Given the description of an element on the screen output the (x, y) to click on. 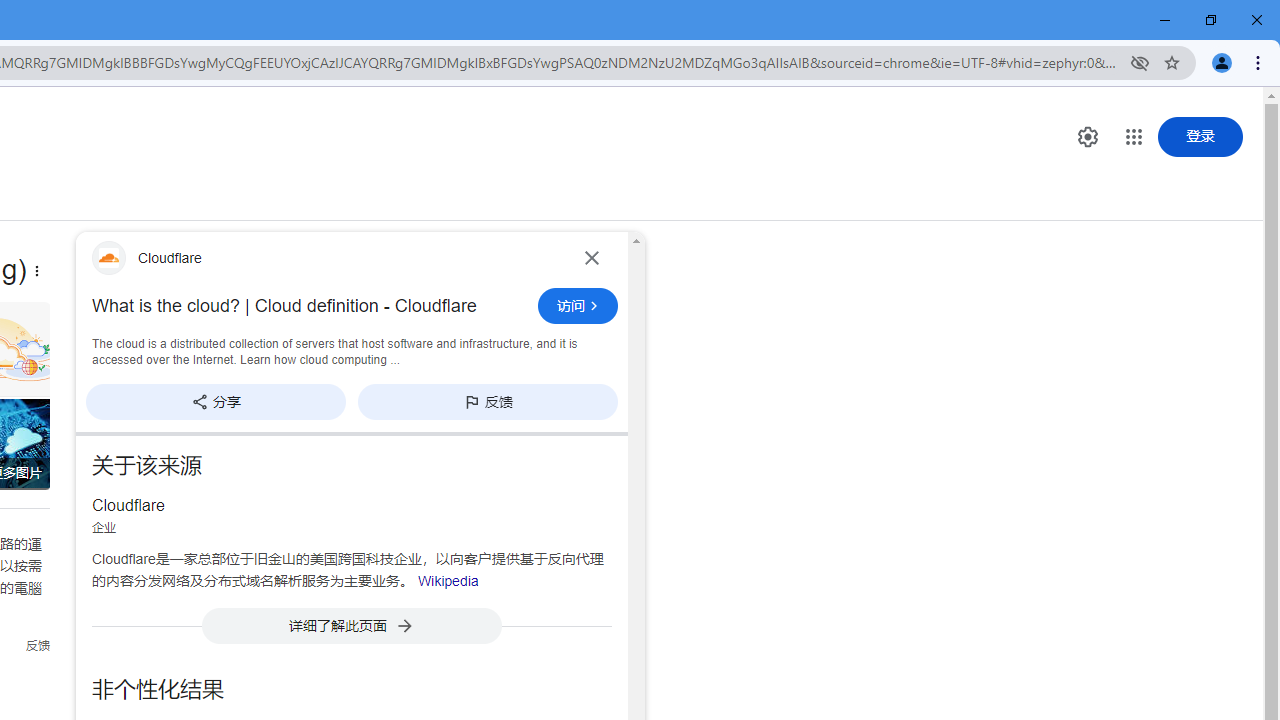
Cloudflare (326, 257)
